Given the description of an element on the screen output the (x, y) to click on. 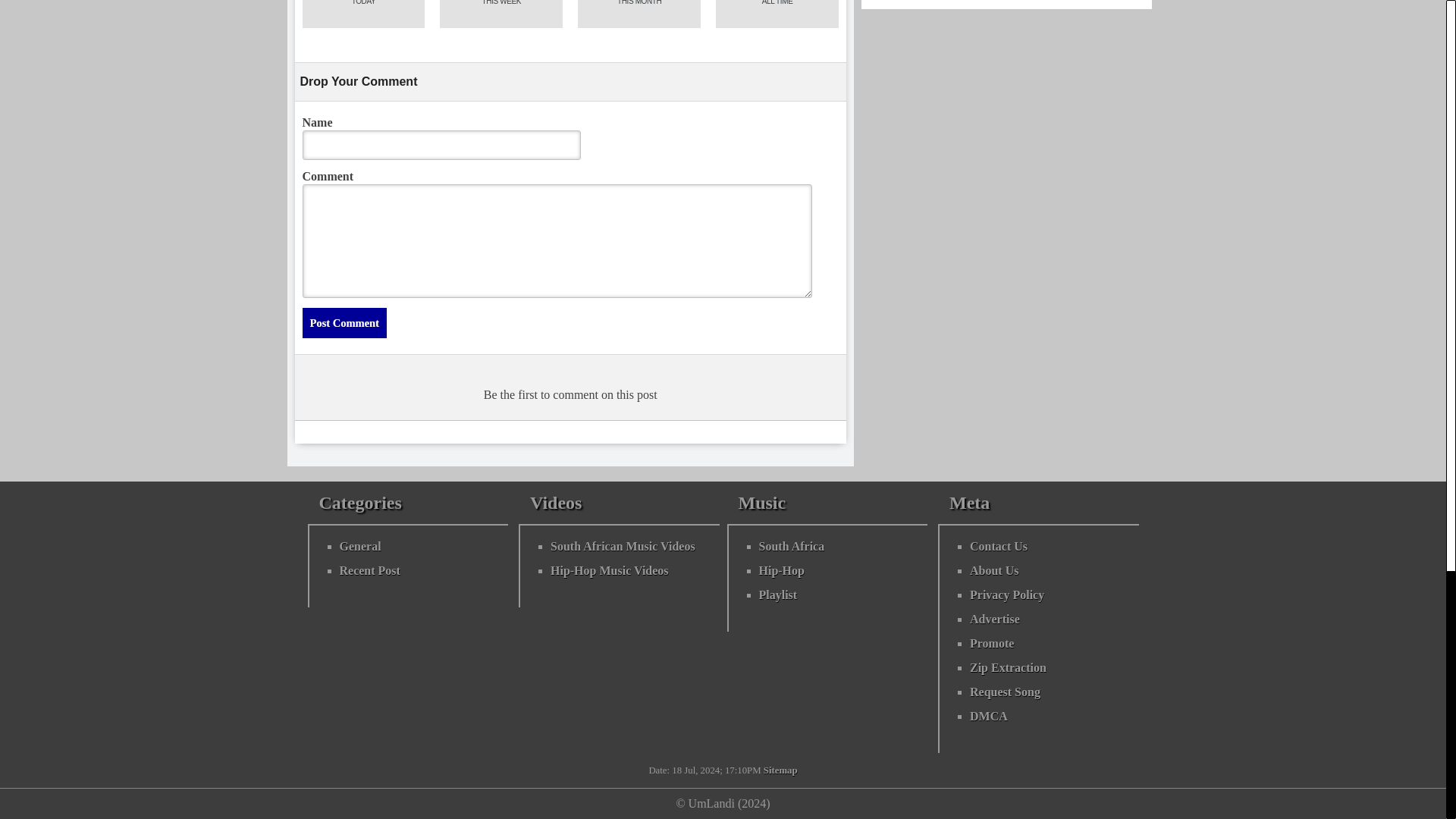
Post Comment (343, 322)
Post Comment (343, 322)
